Given the description of an element on the screen output the (x, y) to click on. 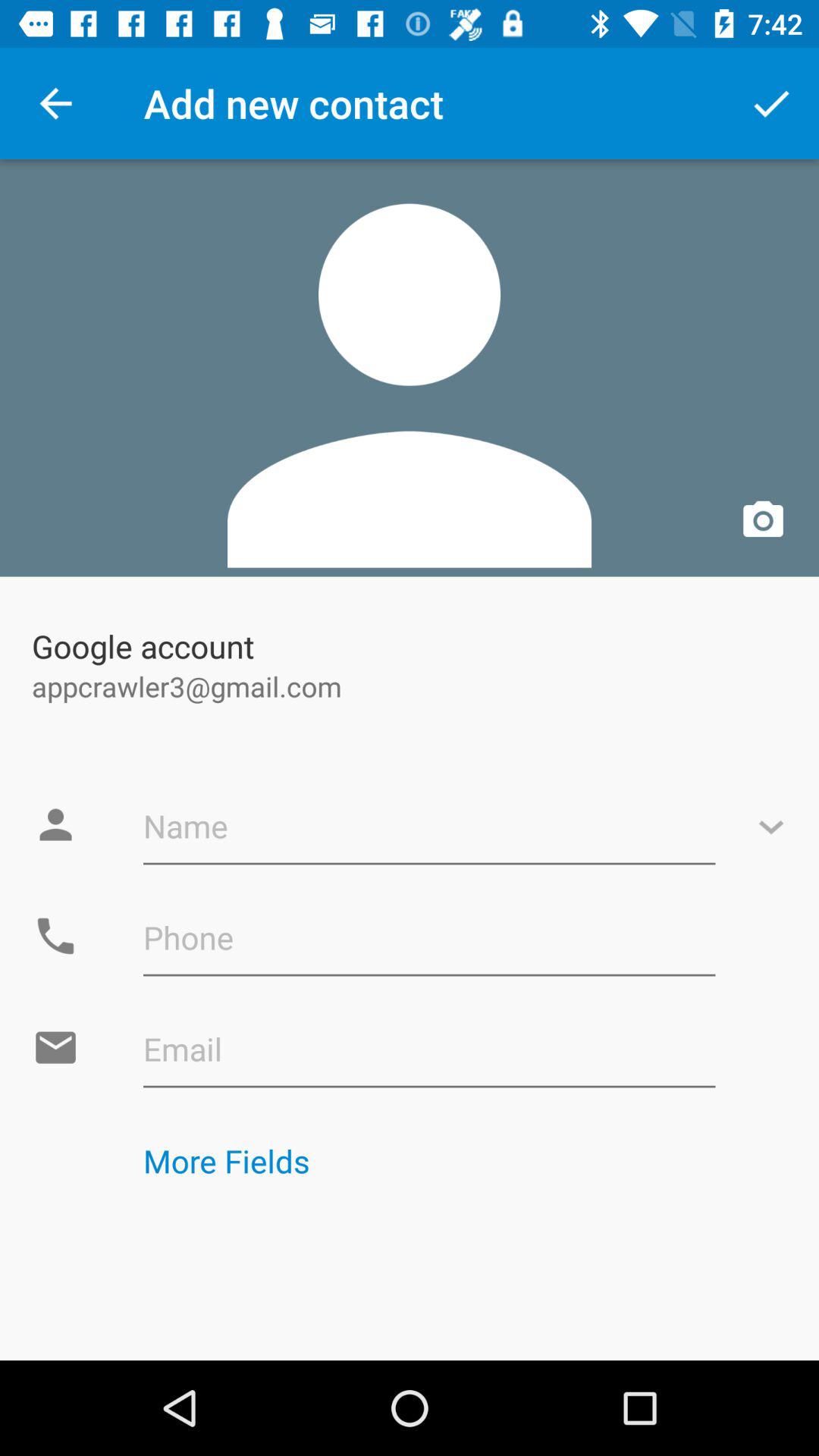
turn off item at the top right corner (771, 103)
